Given the description of an element on the screen output the (x, y) to click on. 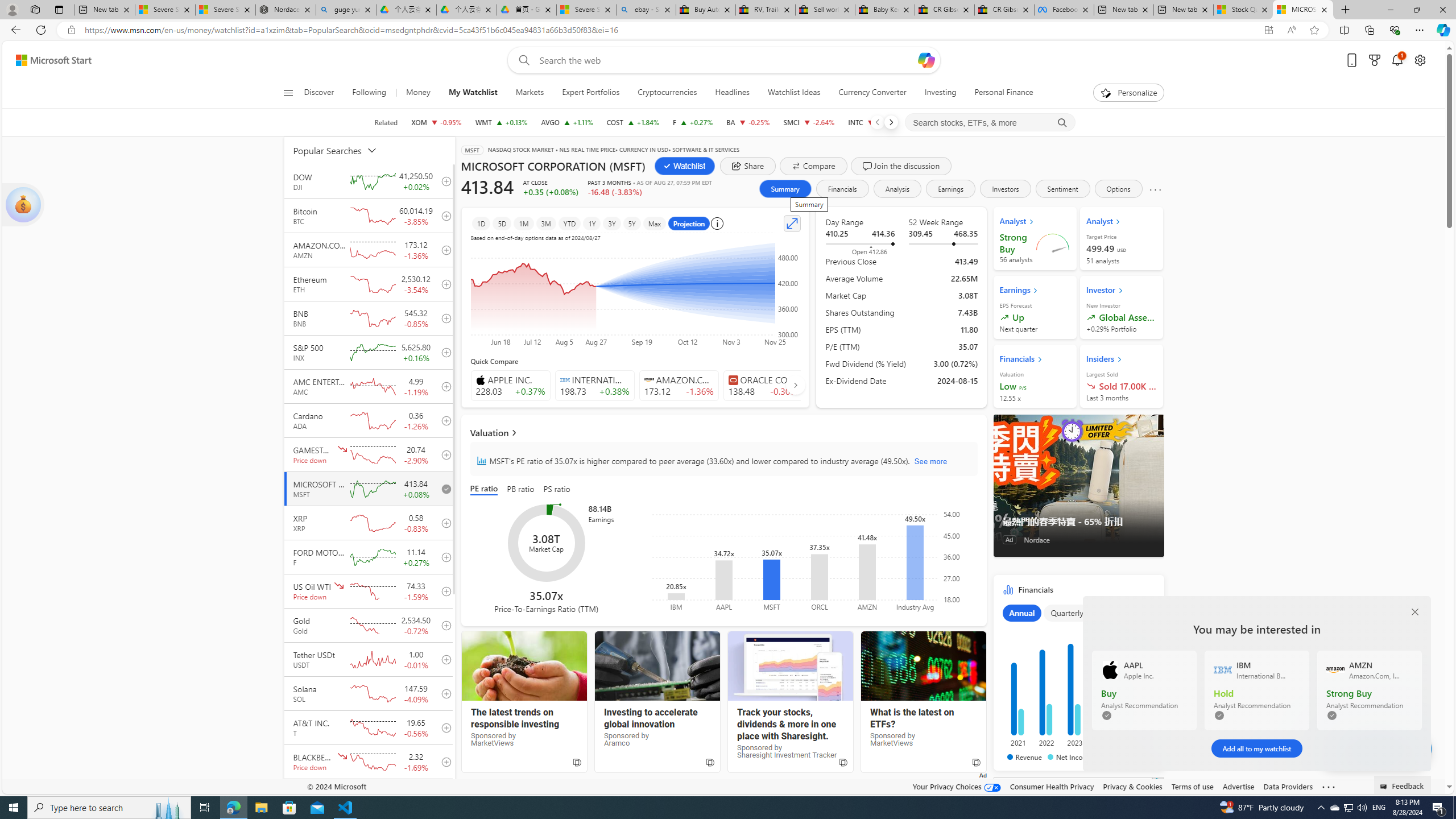
My Watchlist (472, 92)
guge yunpan - Search (346, 9)
Buy Auto Parts & Accessories | eBay (706, 9)
Cryptocurrencies (667, 92)
Class: autoSuggestIcon-DS-EntryPoint1-2 (733, 379)
Notifications (1397, 60)
Headlines (731, 92)
BA THE BOEING COMPANY decrease 173.05 -0.43 -0.25% (748, 122)
Watchlist Ideas (794, 92)
My Watchlist (472, 92)
